Given the description of an element on the screen output the (x, y) to click on. 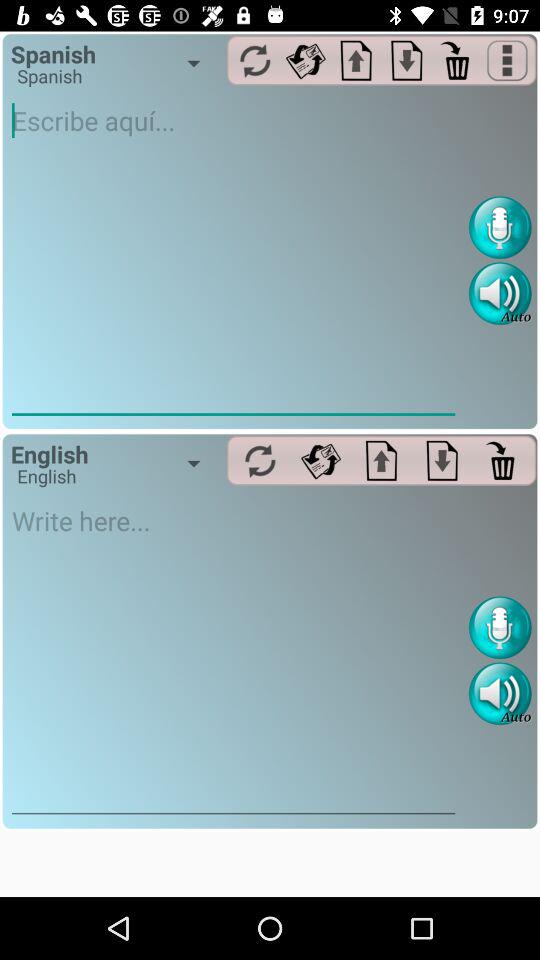
record (499, 627)
